Given the description of an element on the screen output the (x, y) to click on. 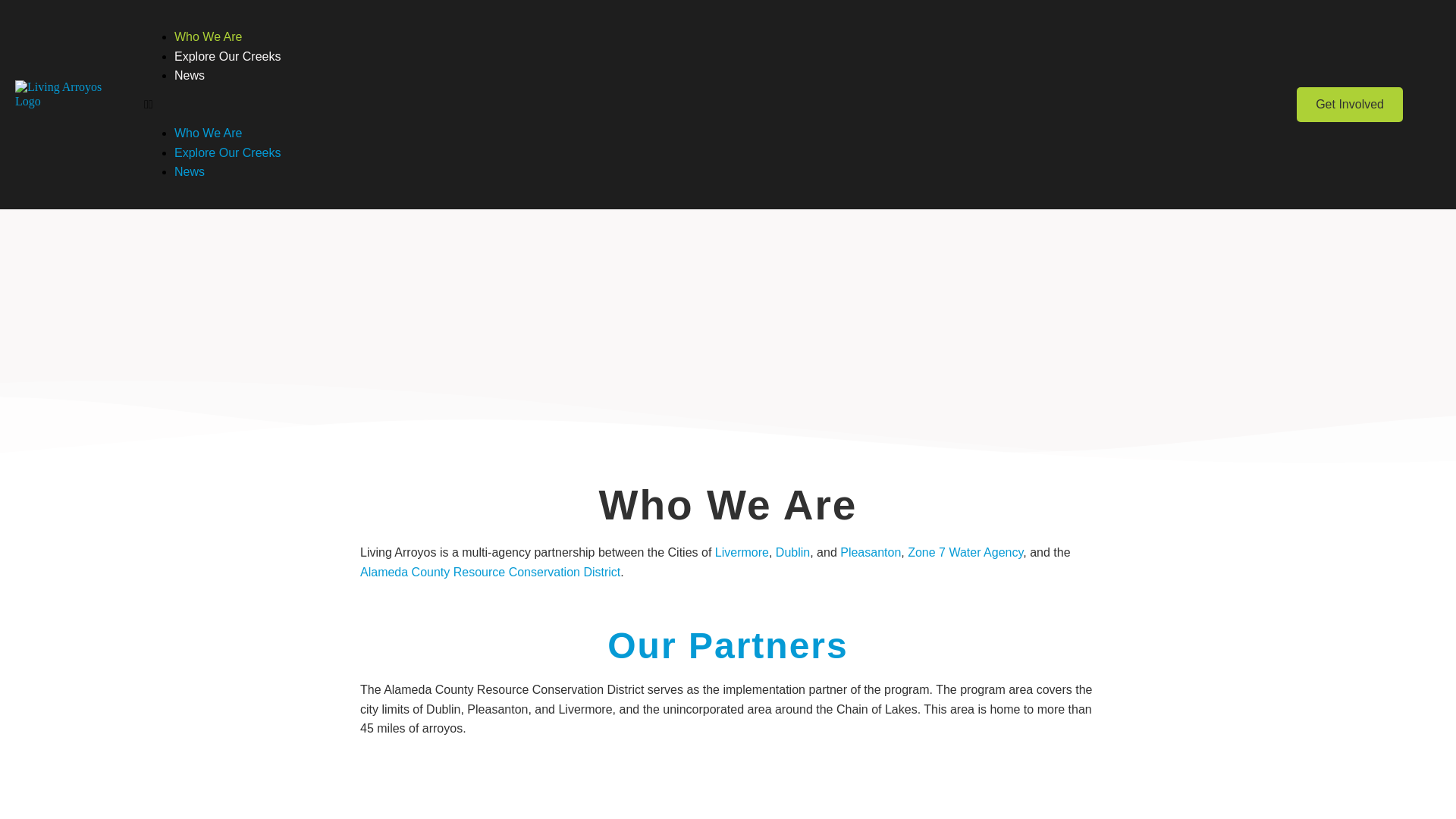
Livermore (741, 552)
Dublin (792, 552)
Who We Are (208, 132)
Get Involved (1350, 104)
News (189, 74)
Who We Are (208, 36)
Alameda County Resource Conservation District (489, 571)
Explore Our Creeks (227, 152)
News (189, 171)
Explore Our Creeks (227, 56)
Pleasanton (870, 552)
Zone 7 Water Agency (965, 552)
